Given the description of an element on the screen output the (x, y) to click on. 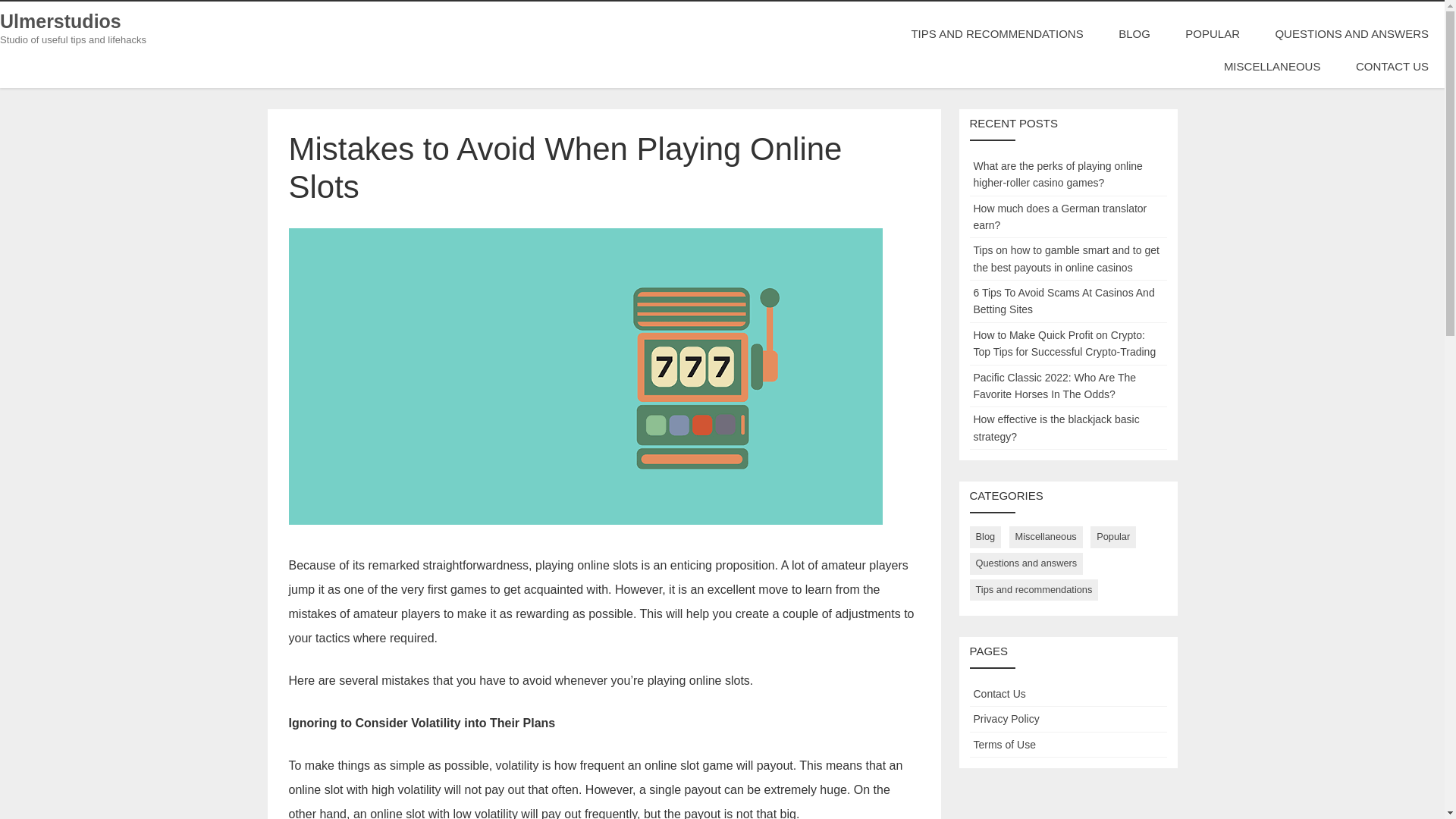
Facebook (5, 142)
POPULAR (1212, 33)
Messenger (5, 148)
MISCELLANEOUS (1272, 65)
Tips and recommendations (1033, 590)
How effective is the blackjack basic strategy? (1057, 427)
LinkedIn (5, 166)
Blog (985, 536)
6 Tips To Avoid Scams At Casinos And Betting Sites (1064, 300)
